Given the description of an element on the screen output the (x, y) to click on. 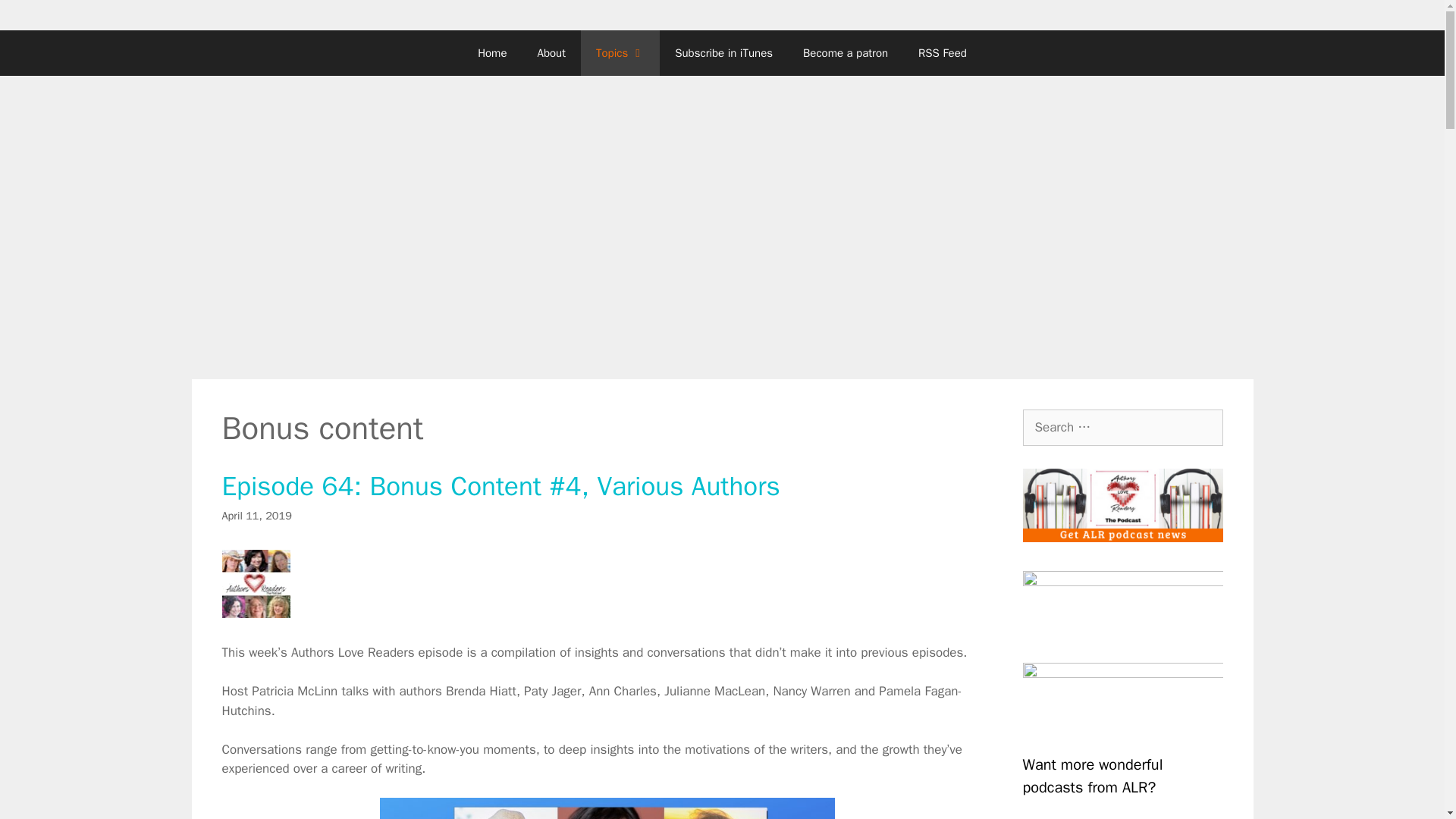
About (550, 53)
Search for: (1122, 427)
Home (492, 53)
Subscribe in iTunes (723, 53)
RSS Feed (941, 53)
Topics (619, 53)
Become a patron (844, 53)
